Given the description of an element on the screen output the (x, y) to click on. 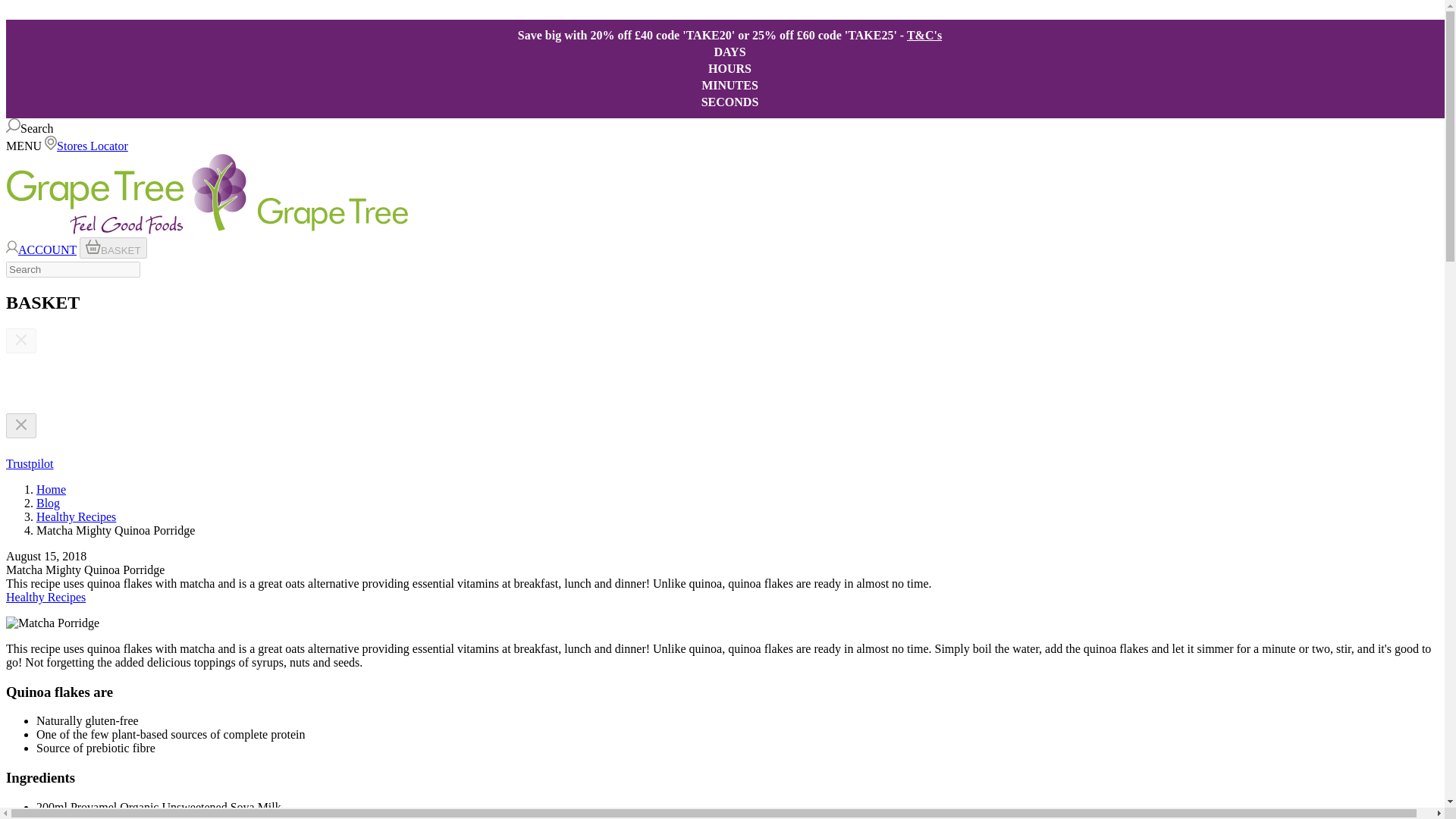
Close panel (20, 424)
Go to Home Page (50, 489)
Healthy Recipes (76, 516)
Blog (47, 502)
Healthy Recipes (45, 596)
BASKET (113, 247)
Trustpilot (29, 463)
Stores Locator (86, 145)
Home (50, 489)
Healthy Recipes (76, 516)
